Given the description of an element on the screen output the (x, y) to click on. 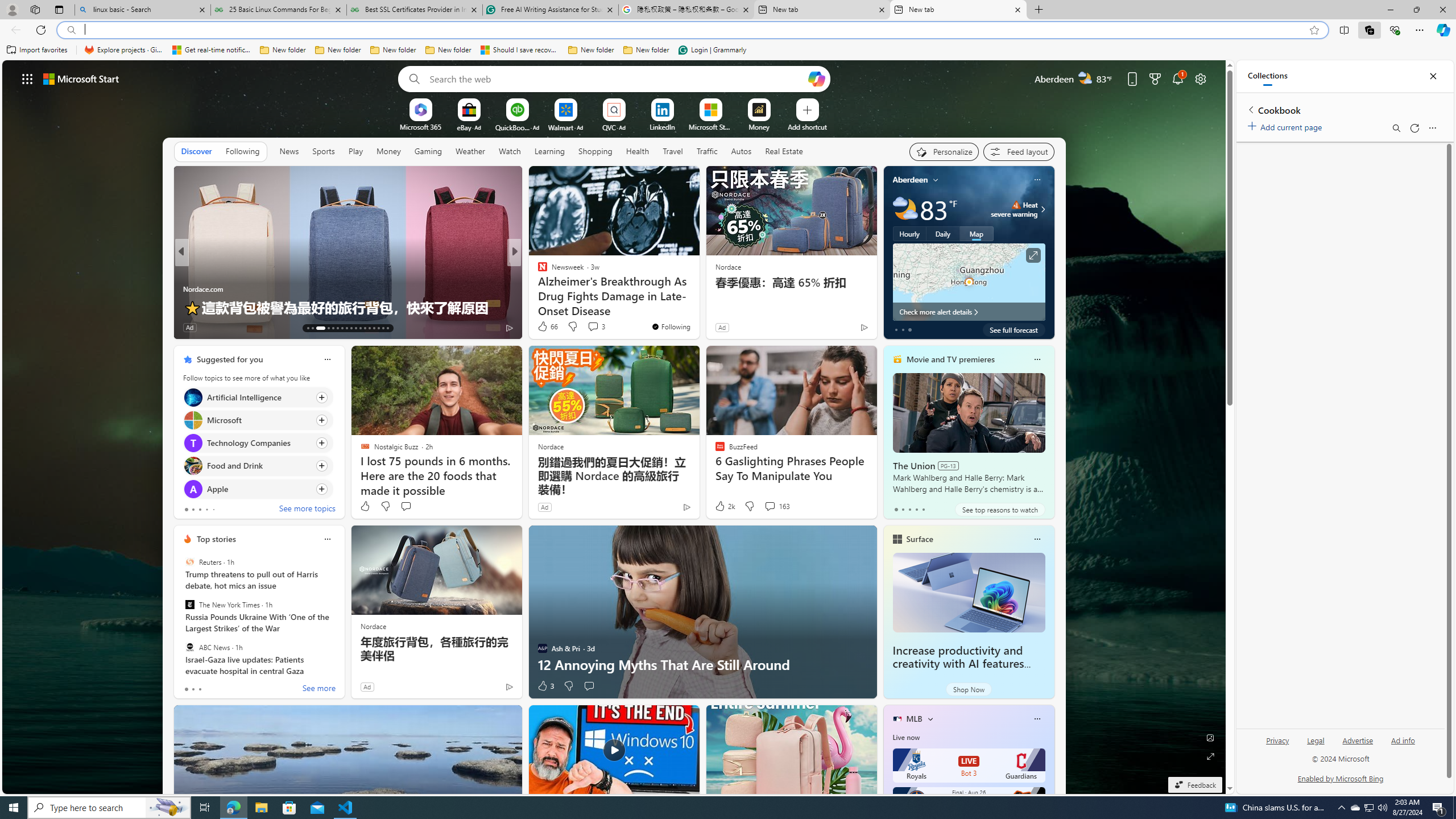
66 Like (546, 326)
Start the conversation (588, 685)
AutomationID: tab-20 (346, 328)
Legal (1315, 745)
Free AI Writing Assistance for Students | Grammarly (550, 9)
15 Cool Life Facts You Won't Learn in School (697, 307)
Money (388, 151)
477 Like (545, 327)
Microsoft (192, 419)
Nordace (372, 625)
Class: weather-arrow-glyph (1043, 208)
View comments 2 Comment (592, 327)
